Given the description of an element on the screen output the (x, y) to click on. 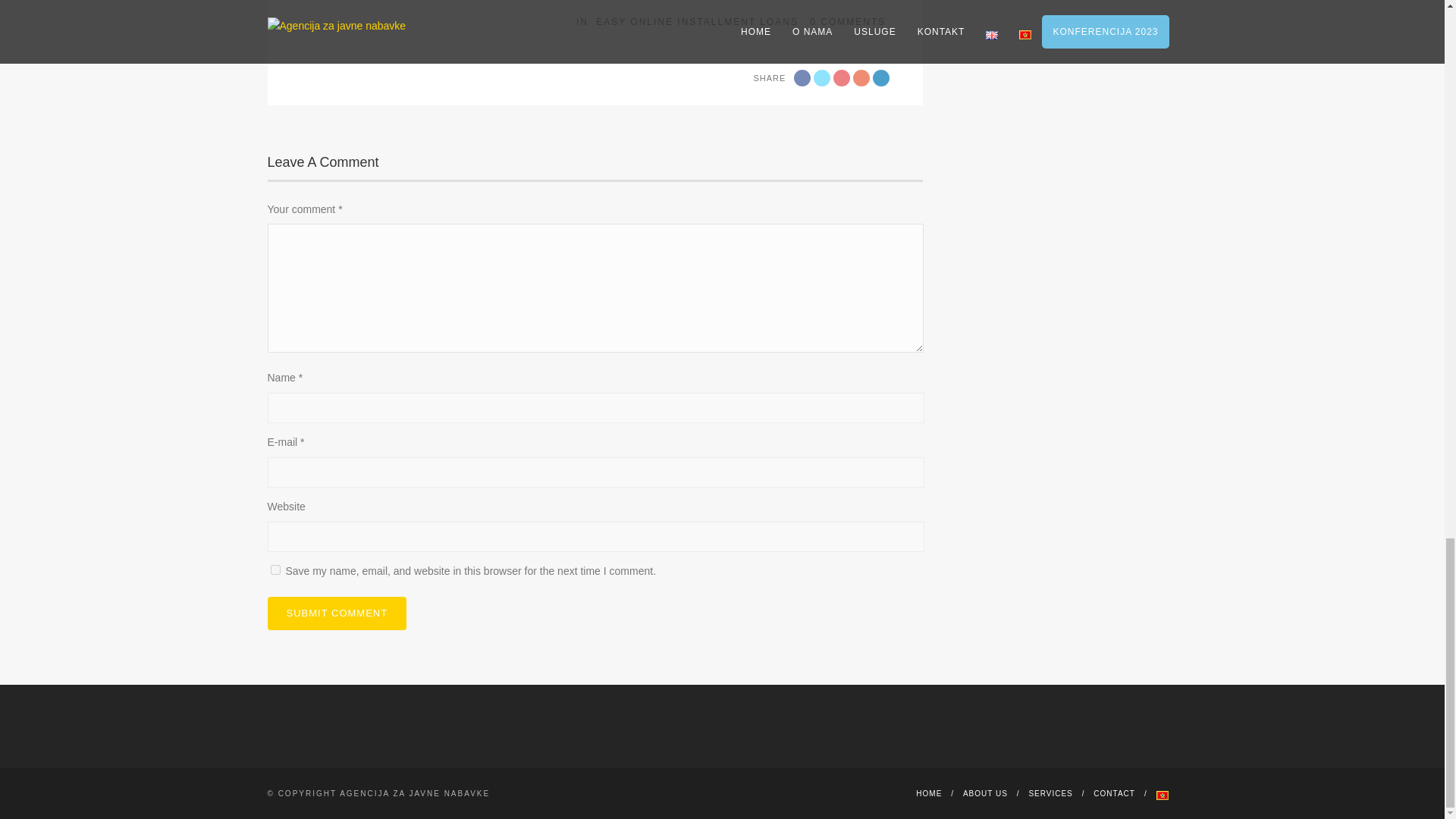
HOME (928, 793)
Submit comment (336, 613)
0 COMMENTS (847, 21)
ABOUT US (984, 793)
LinkedIn (880, 77)
CONTACT (1114, 793)
Twitter (821, 77)
EASY ONLINE INSTALLMENT LOANS (696, 21)
SERVICES (1049, 793)
Pinterest (861, 77)
Facebook (801, 77)
Submit comment (336, 613)
yes (274, 569)
